Given the description of an element on the screen output the (x, y) to click on. 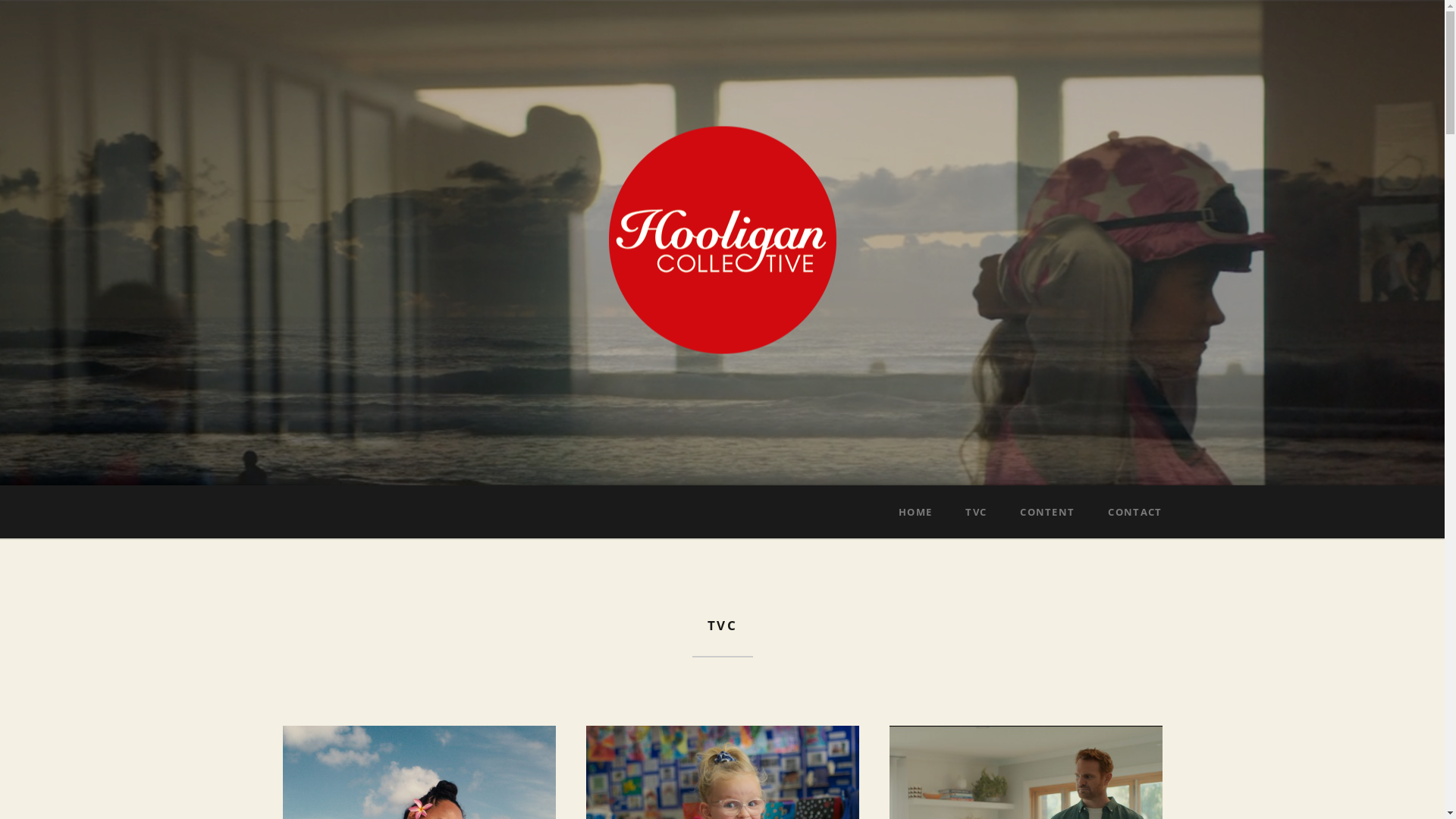
CONTACT Element type: text (1134, 511)
HOME Element type: text (914, 511)
CONTENT Element type: text (1046, 511)
TVC Element type: text (975, 511)
